Given the description of an element on the screen output the (x, y) to click on. 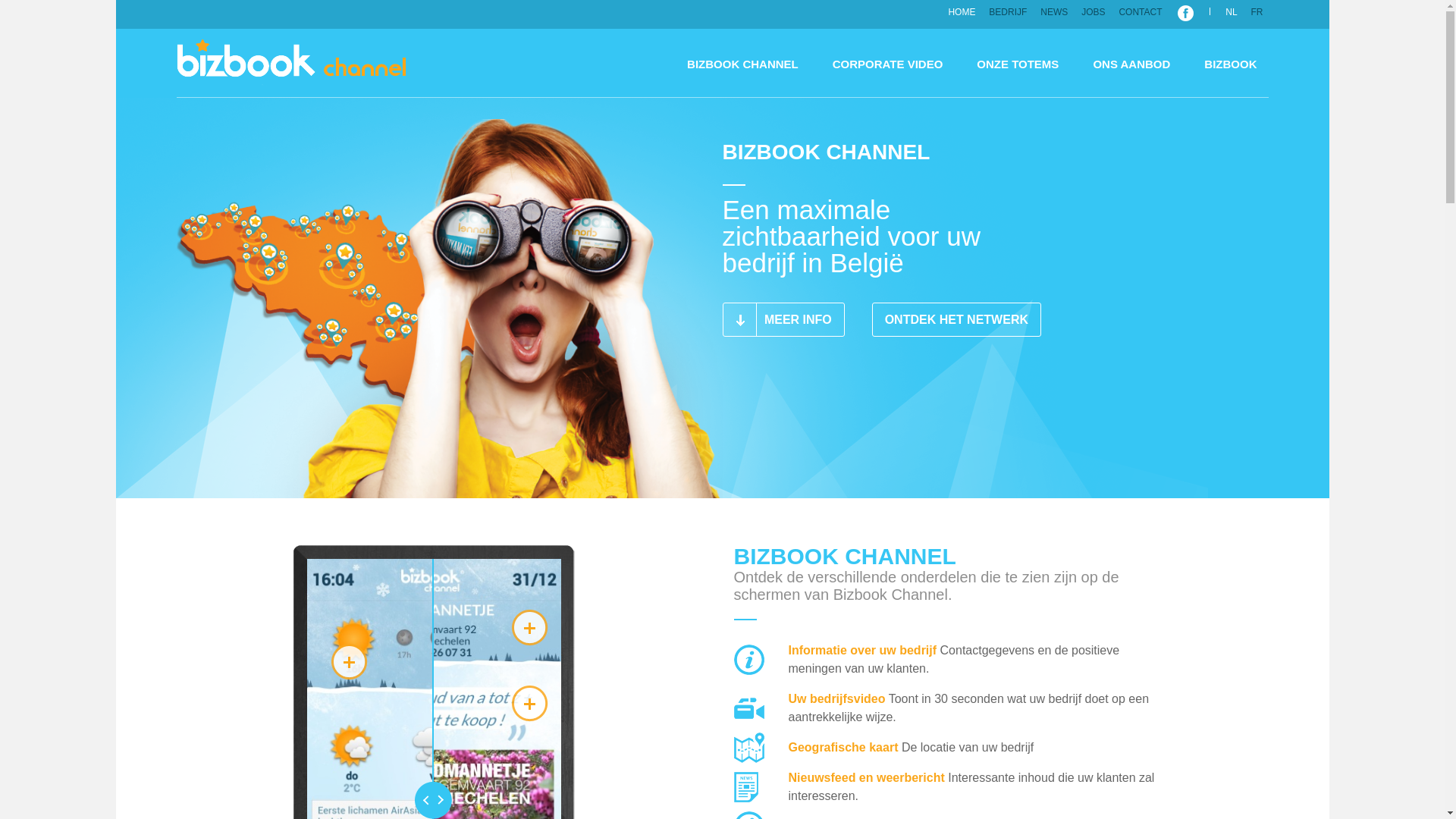
ONTDEK HET NETWERK Element type: text (956, 319)
CORPORATE VIDEO Element type: text (887, 63)
NL Element type: text (1230, 11)
MEER INFO Element type: text (782, 319)
NEWS Element type: text (1053, 11)
BEDRIJF Element type: text (1007, 11)
ONS AANBOD Element type: text (1131, 63)
BIZBOOK CHANNEL Element type: text (290, 62)
HOME Element type: text (961, 11)
JOBS Element type: text (1092, 11)
FR Element type: text (1257, 11)
BIZBOOK CHANNEL Element type: text (742, 63)
CONTACT Element type: text (1139, 11)
BIZBOOK Element type: text (1229, 63)
Skip to main content Element type: text (163, 0)
ONZE TOTEMS Element type: text (1017, 63)
